Given the description of an element on the screen output the (x, y) to click on. 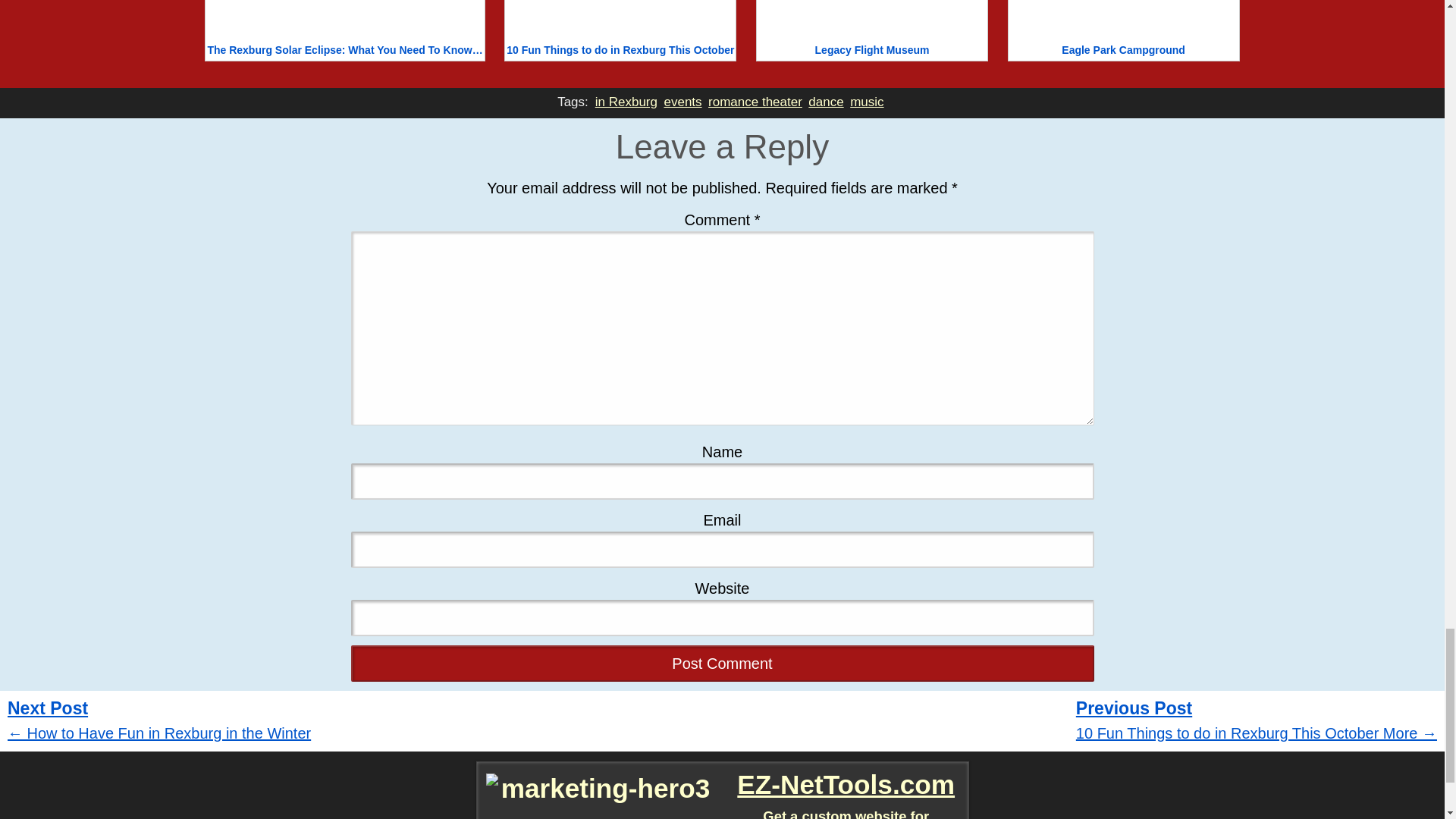
events (682, 102)
Legacy Flight Museum (872, 29)
music (866, 102)
dance (826, 102)
Post Comment (721, 663)
Eagle Park Campground (1124, 29)
10 Fun Things to do in Rexburg This October (620, 29)
romance theater (754, 102)
in Rexburg (626, 102)
